Given the description of an element on the screen output the (x, y) to click on. 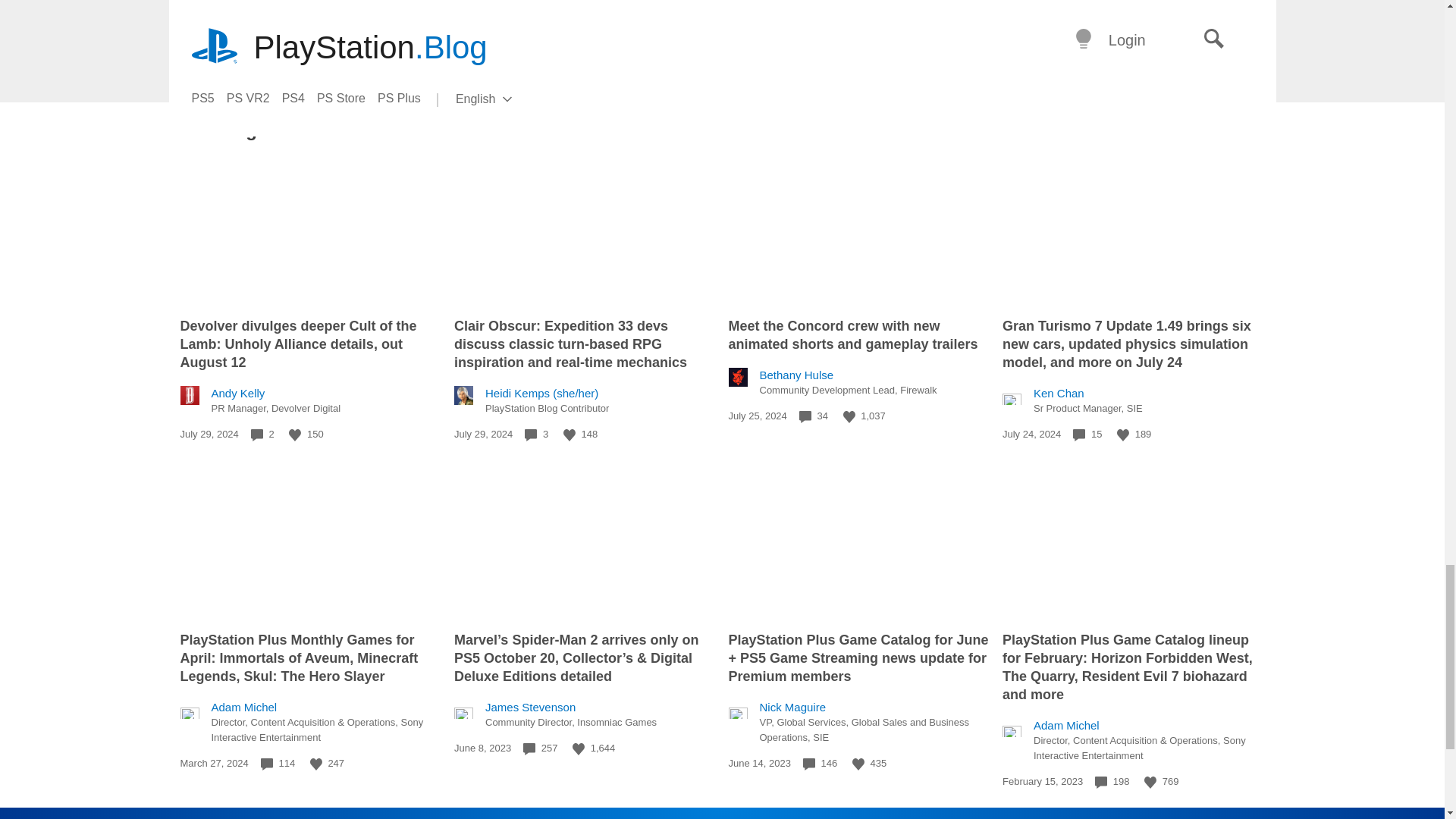
Like this (294, 435)
Like this (315, 764)
Like this (849, 417)
Like this (1122, 435)
Like this (569, 435)
